Given the description of an element on the screen output the (x, y) to click on. 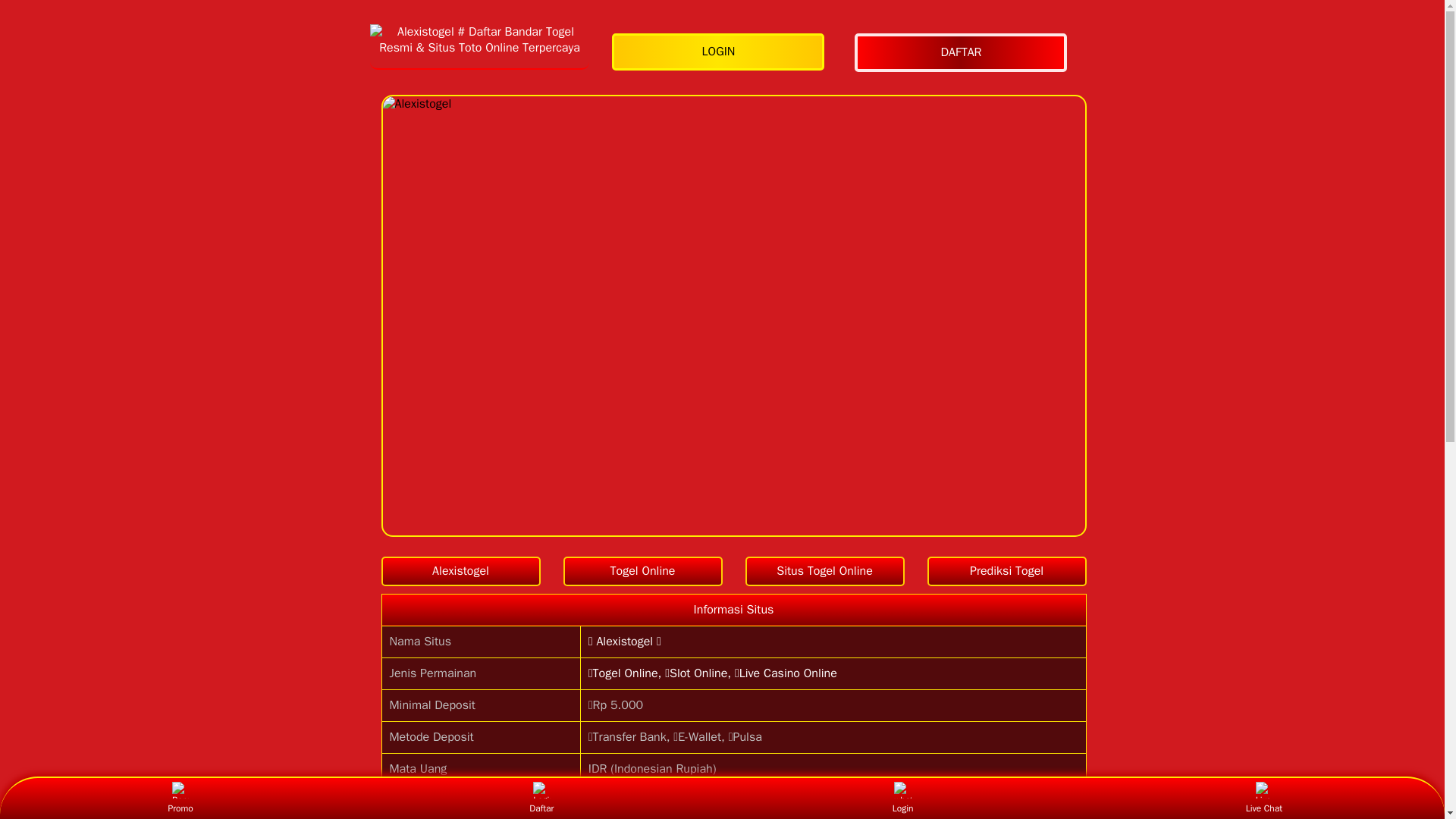
Situs Togel Online (824, 571)
Alexistogel (460, 571)
DAFTAR (964, 52)
Prediksi Togel (1006, 571)
Alexistogel (460, 571)
Live Chat (1263, 797)
Situs Togel Online (824, 571)
Prediksi Togel (1006, 571)
Daftar (541, 797)
Togel Online (642, 571)
